Given the description of an element on the screen output the (x, y) to click on. 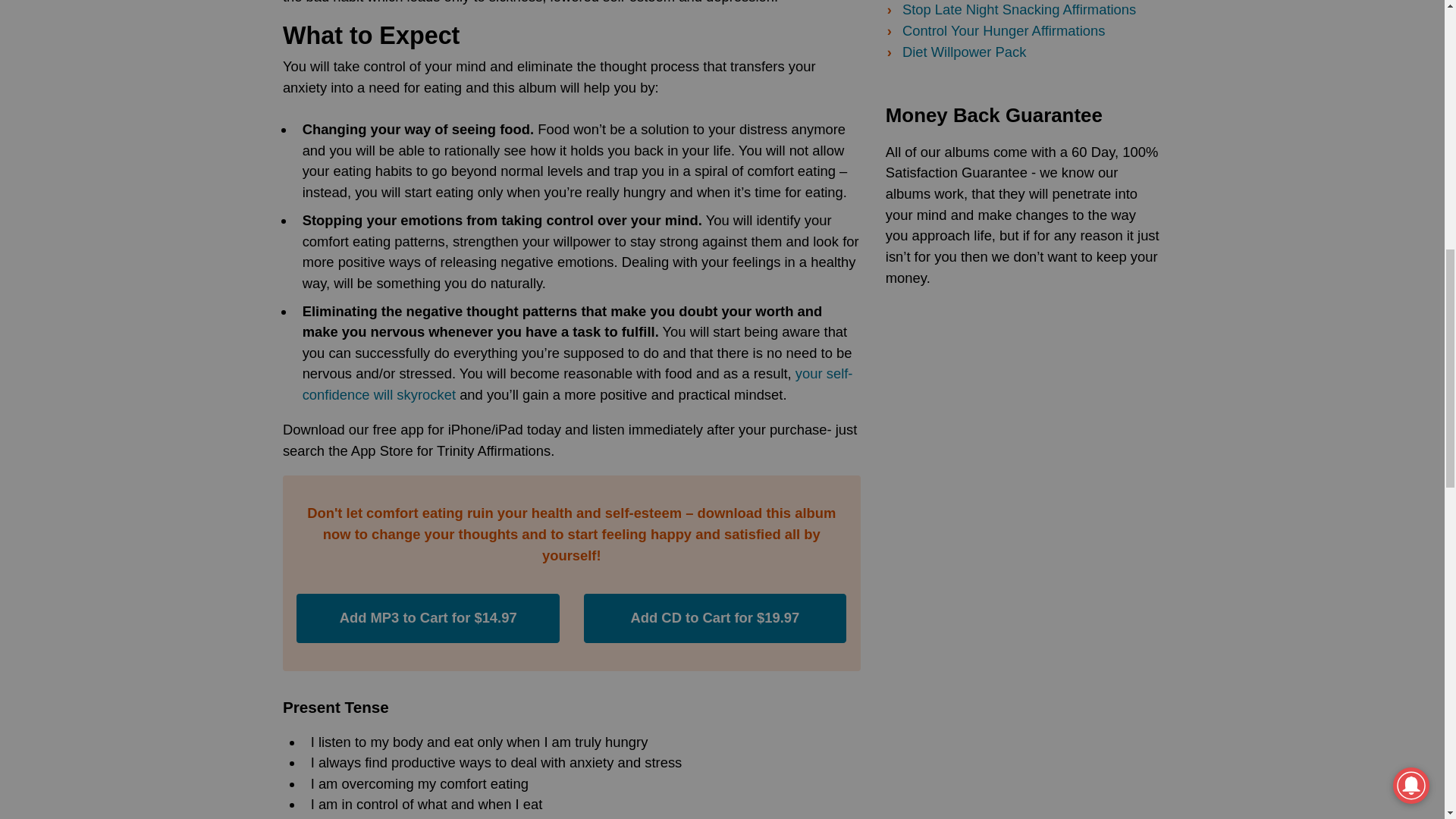
Stop Late Night Snacking Affirmations (1018, 9)
Diet Willpower Pack (964, 51)
Control Your Hunger Affirmations (1003, 30)
your self-confidence will skyrocket (577, 383)
Confidence Affirmations (577, 383)
